Given the description of an element on the screen output the (x, y) to click on. 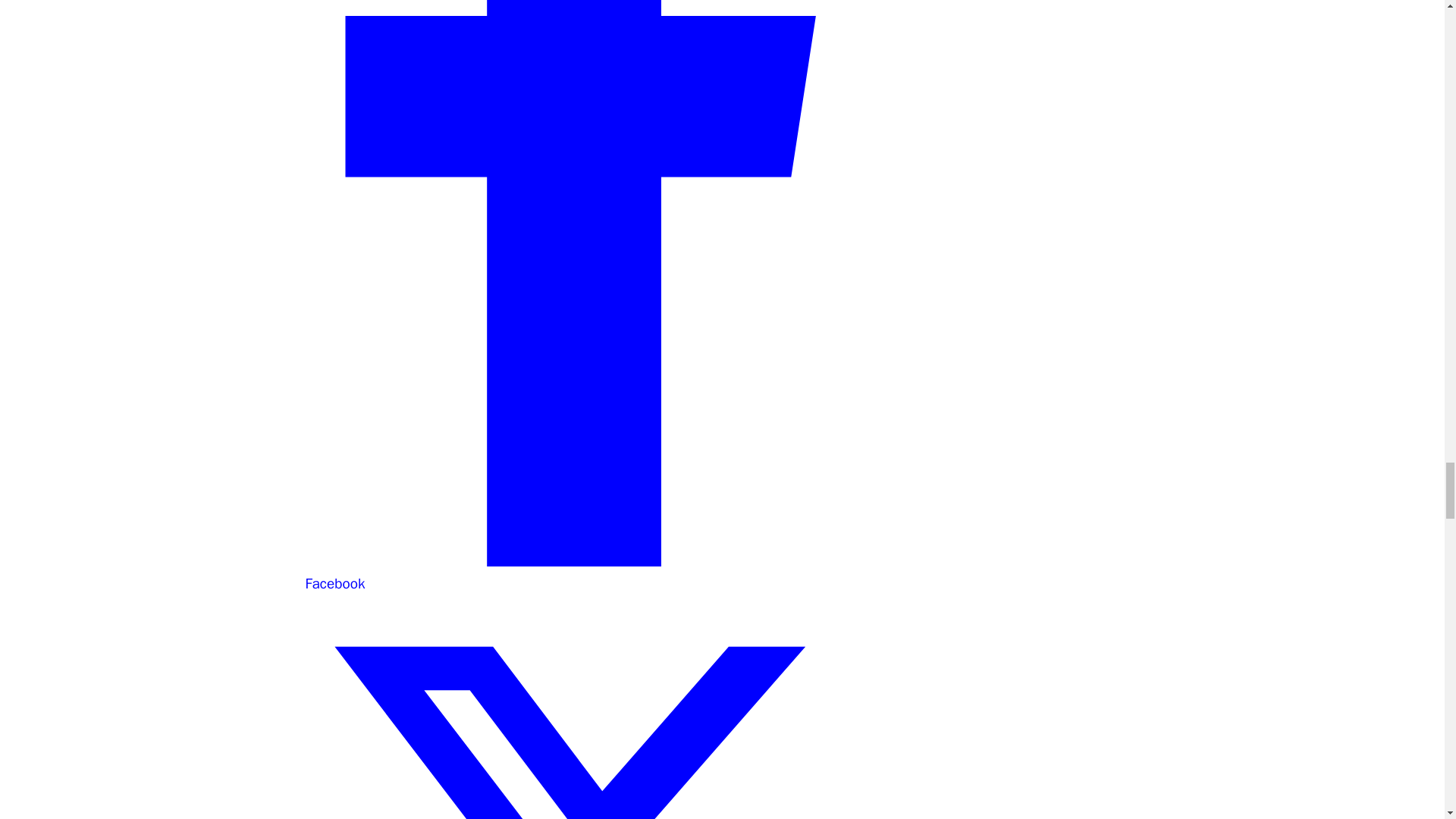
Facebook (582, 572)
